Given the description of an element on the screen output the (x, y) to click on. 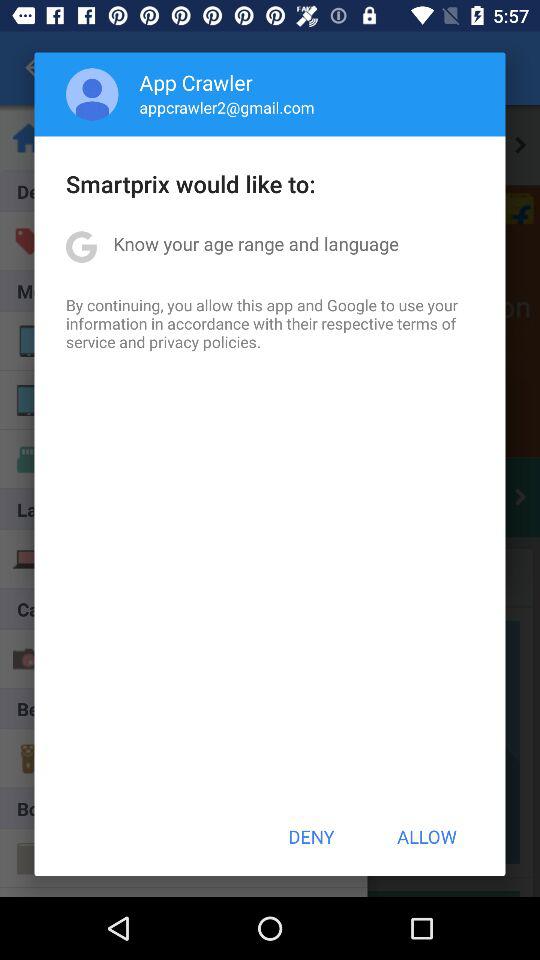
launch the appcrawler2@gmail.com item (226, 107)
